Given the description of an element on the screen output the (x, y) to click on. 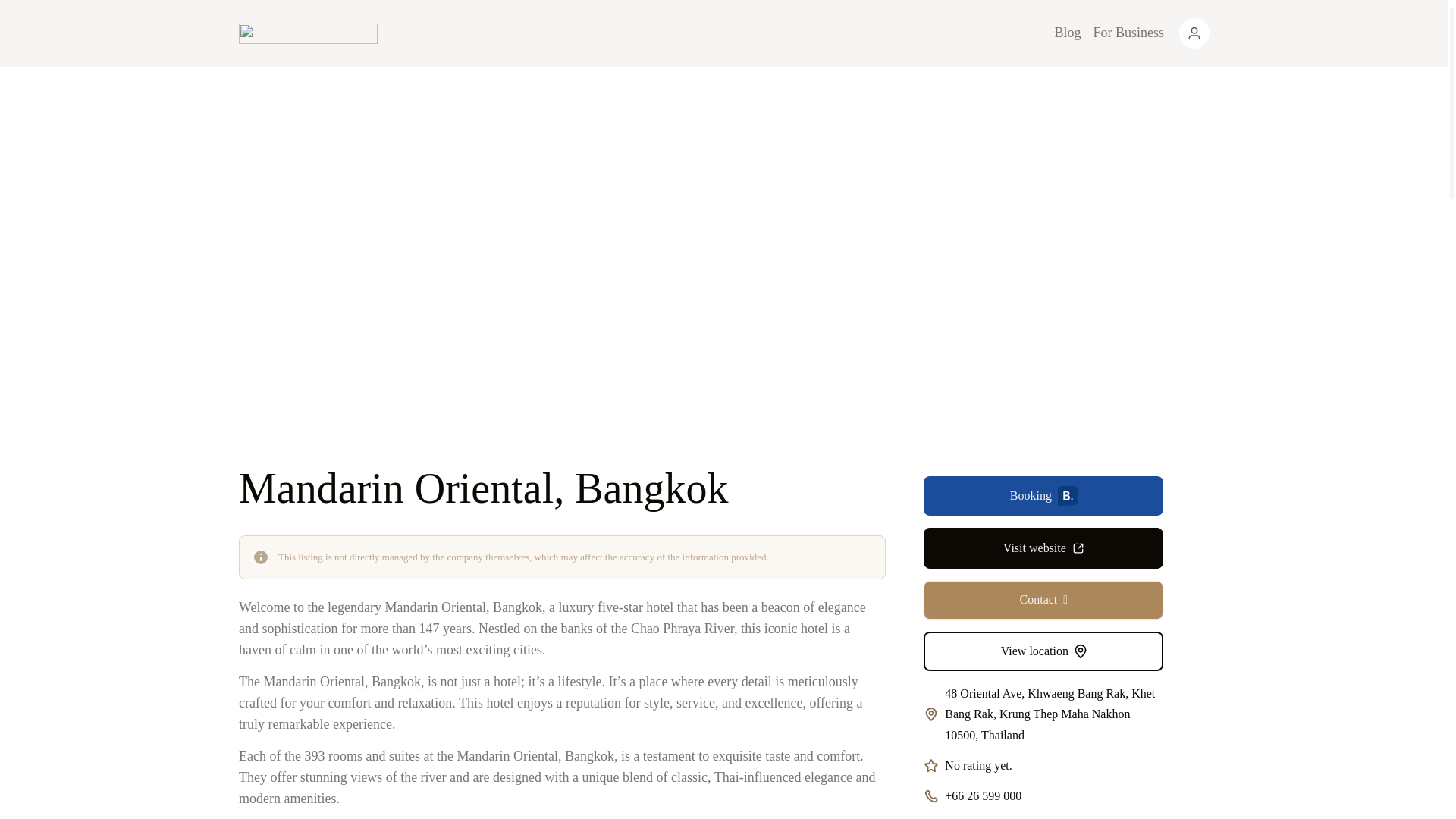
For Business (1128, 33)
Visit website (1043, 547)
Contact (1043, 599)
Blog (1067, 33)
Booking (1043, 495)
View location (1043, 650)
